Given the description of an element on the screen output the (x, y) to click on. 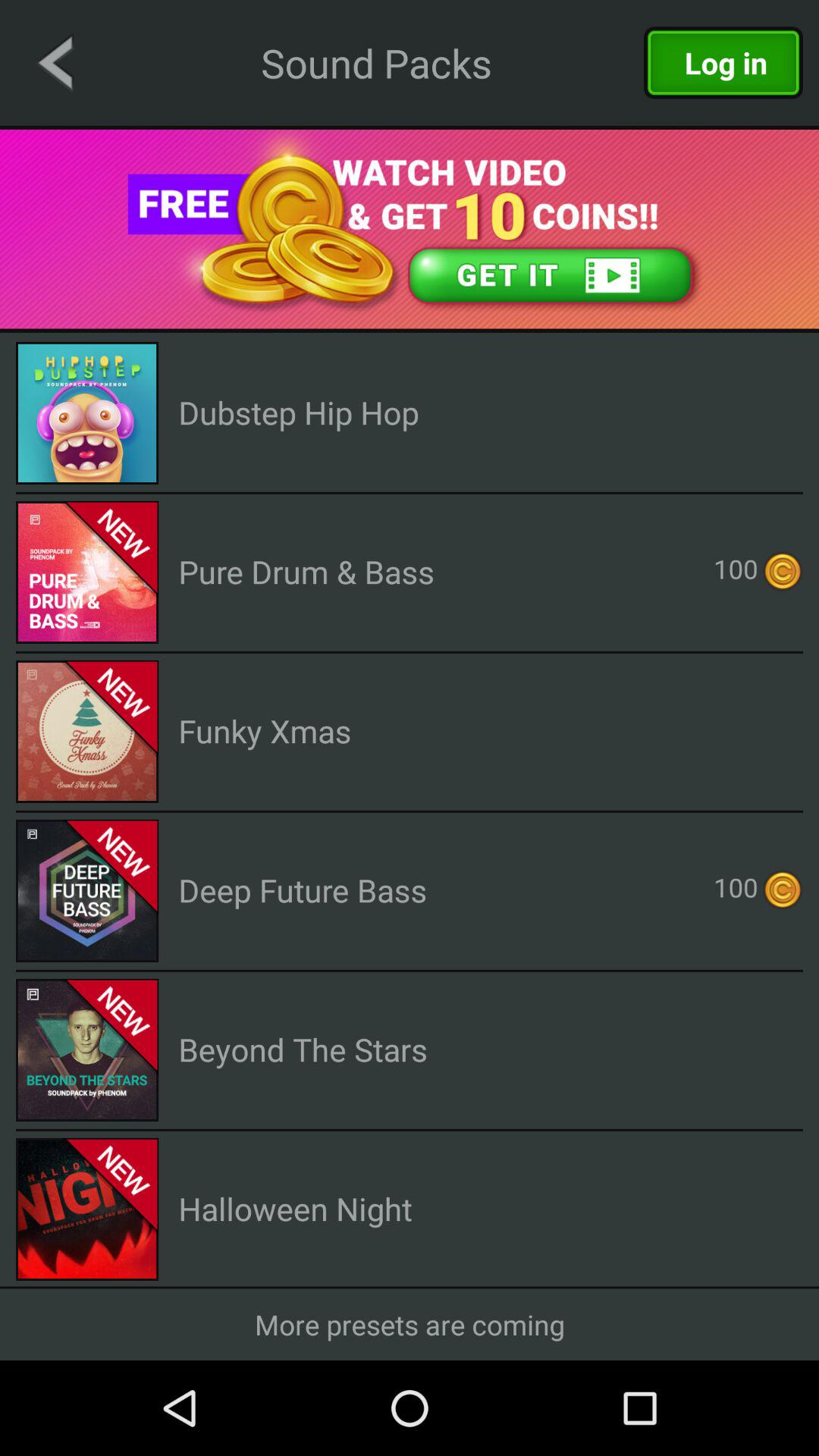
open dubstep hip hop (298, 411)
